Given the description of an element on the screen output the (x, y) to click on. 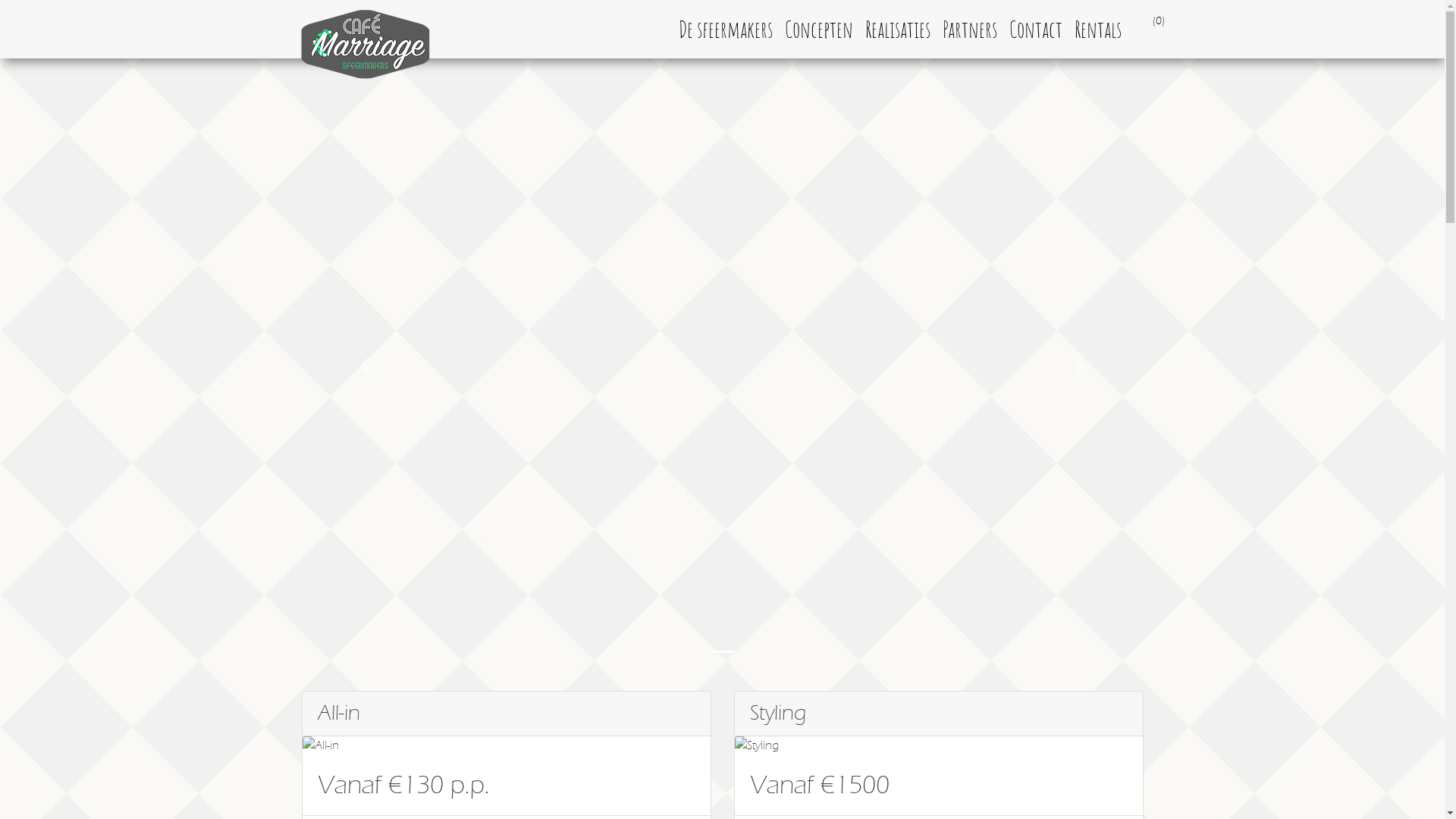
Rentals Element type: text (1096, 29)
Contact Element type: text (1034, 29)
 (0) Element type: text (1134, 29)
Realisaties Element type: text (896, 29)
Previous Element type: text (364, 365)
Next Element type: text (1079, 365)
De sfeermakers Element type: text (724, 29)
Concepten Element type: text (818, 29)
Partners Element type: text (968, 29)
